Given the description of an element on the screen output the (x, y) to click on. 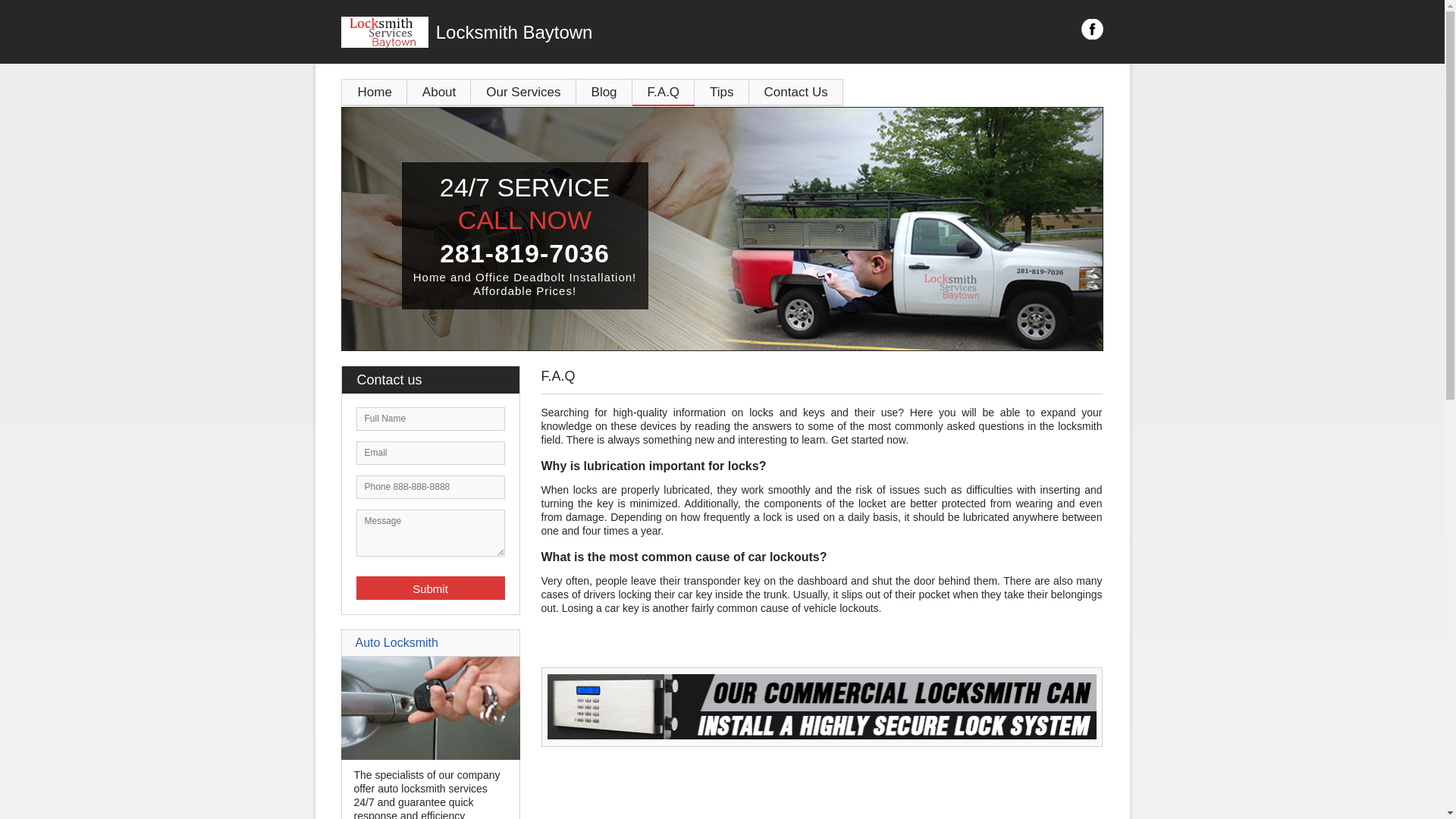
Facebook Element type: text (1092, 29)
Contact Us Element type: text (796, 91)
Blog Element type: text (604, 91)
Auto Locksmith Element type: text (395, 642)
Submit Element type: text (430, 587)
About Element type: text (438, 91)
Locksmith Baytown, TX | 281-819-7036 | Professional Services Element type: hover (722, 228)
F.A.Q Element type: text (663, 91)
Contact us Element type: text (437, 379)
Locksmith Baytown Element type: text (606, 32)
F.A.Q | Locksmith Baytown Element type: hover (821, 706)
Banner Element type: hover (821, 735)
Tips Element type: text (721, 91)
Our Services Element type: text (522, 91)
Home Element type: text (374, 91)
Auto Locksmith Element type: hover (430, 755)
